Given the description of an element on the screen output the (x, y) to click on. 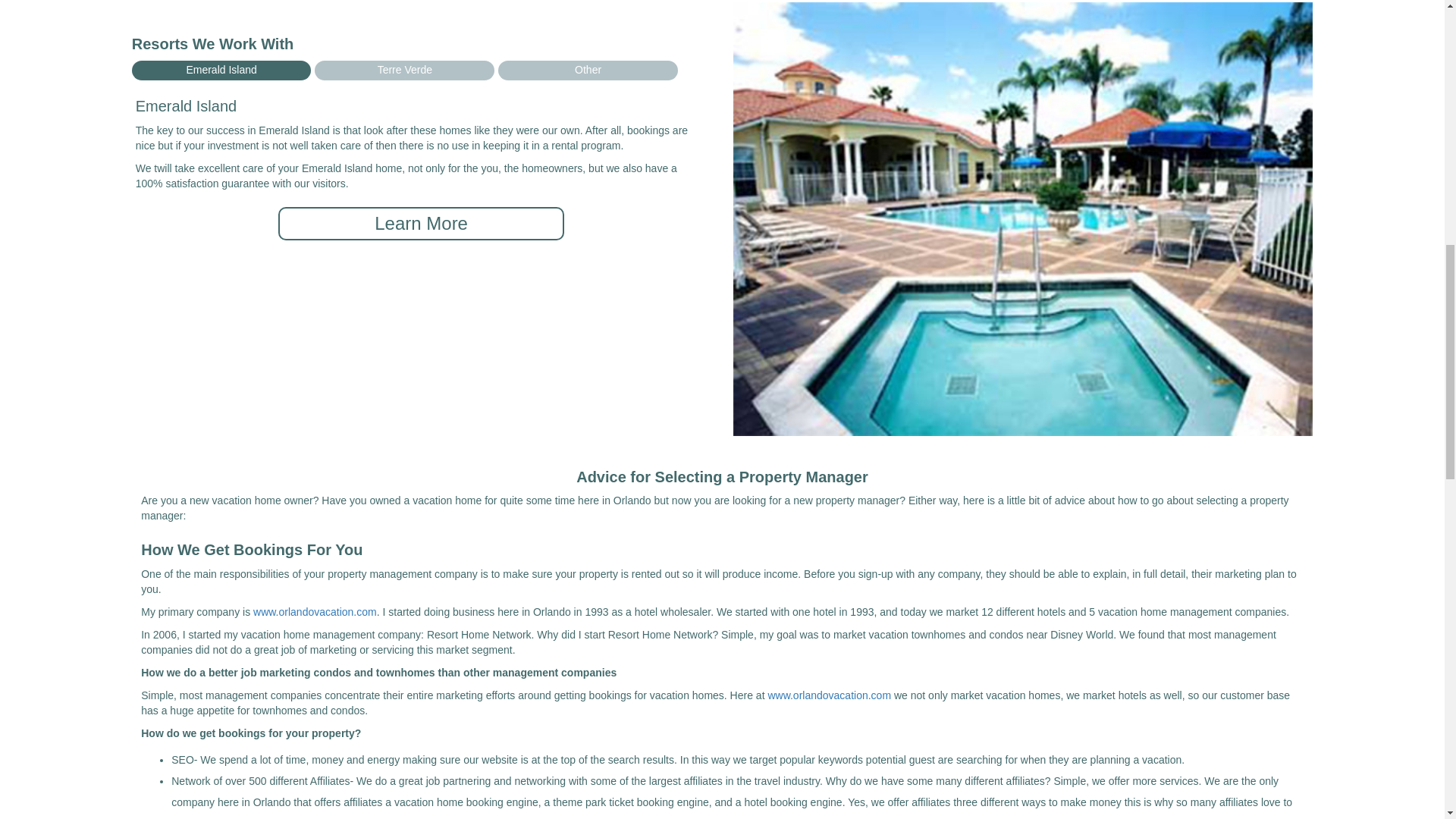
Learn More (421, 223)
Terre Verde (404, 70)
www.orlandovacation.com (829, 695)
Other (587, 70)
Emerald Island (221, 70)
www.orlandovacation.com (315, 612)
